Given the description of an element on the screen output the (x, y) to click on. 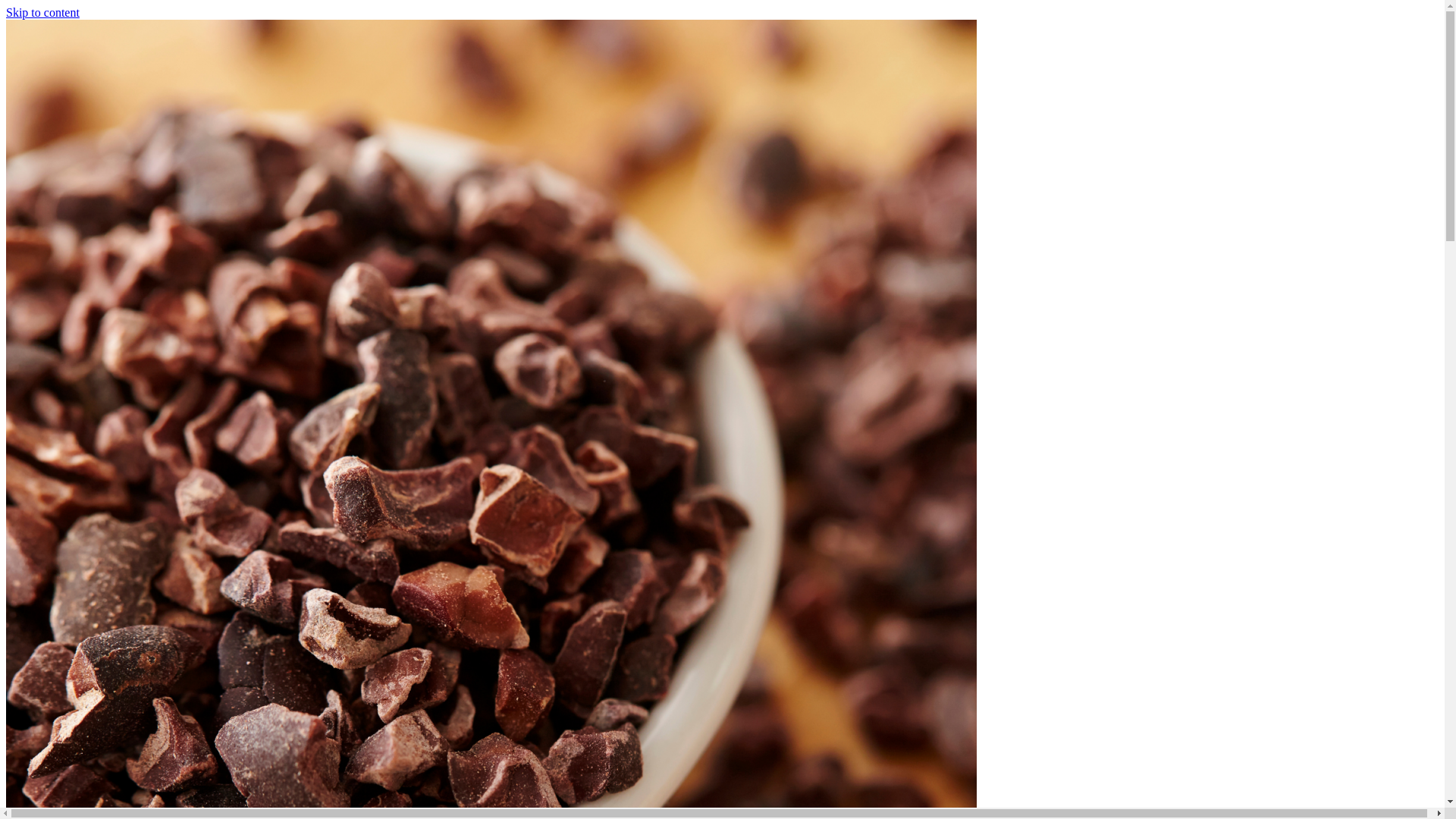
Skip to content Element type: text (42, 12)
